Given the description of an element on the screen output the (x, y) to click on. 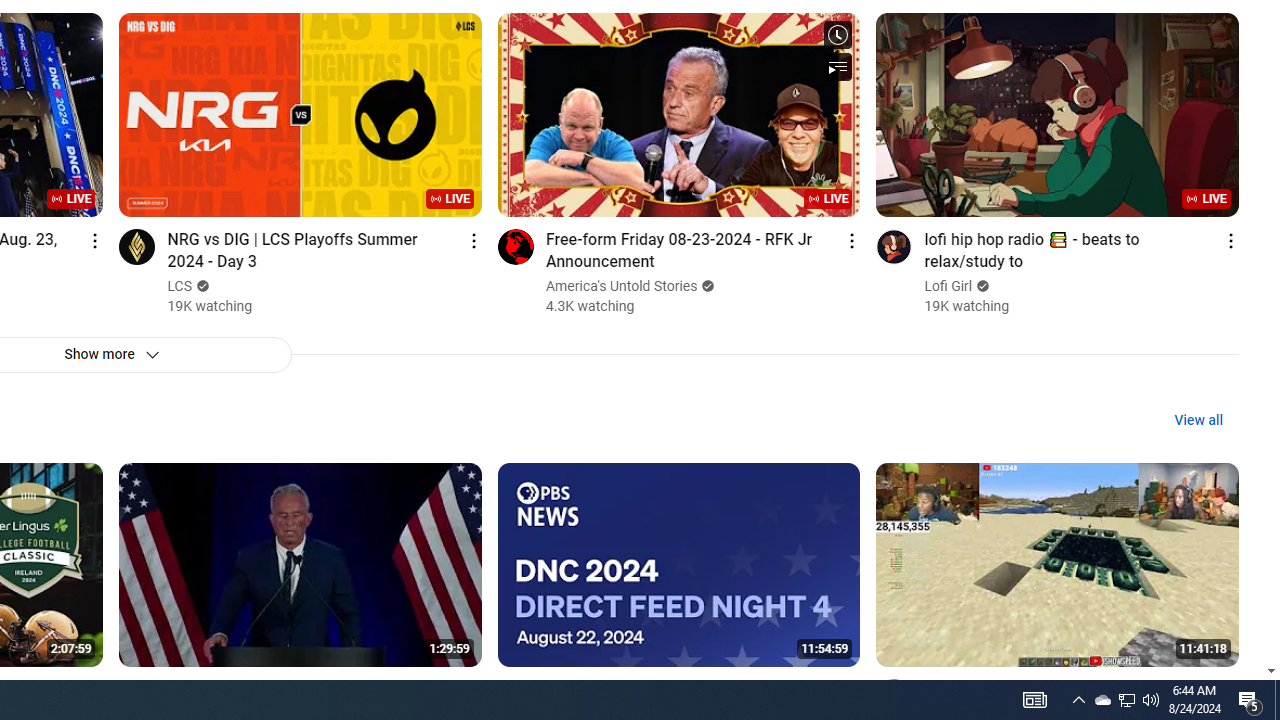
Action menu (1229, 690)
Verified (980, 286)
LCS (180, 285)
Lofi Girl (949, 285)
Go to channel (893, 696)
America's Untold Stories (621, 285)
View all (1198, 420)
